Given the description of an element on the screen output the (x, y) to click on. 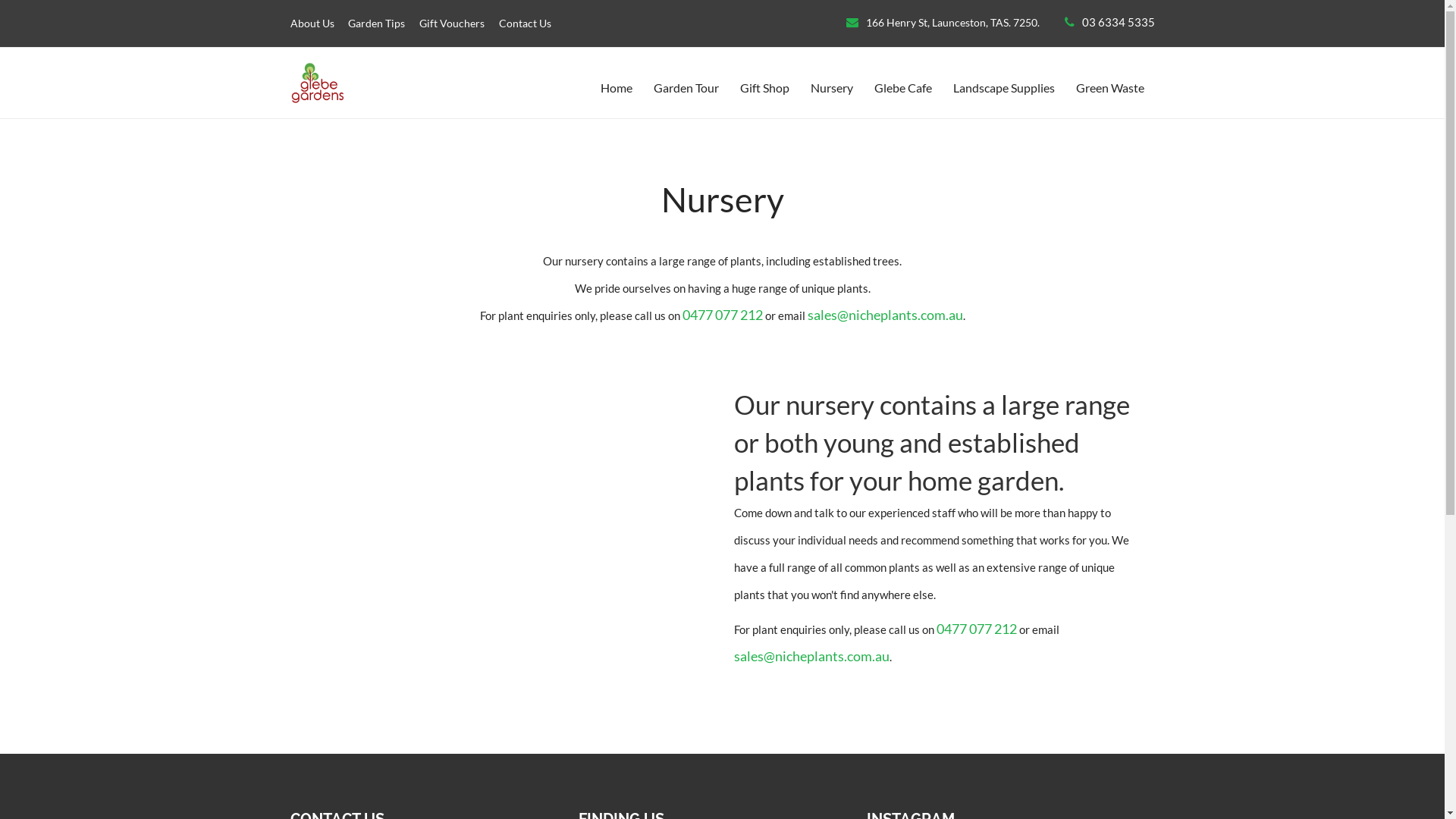
sales@nicheplants.com.au Element type: text (811, 655)
Green Waste Element type: text (1119, 87)
Landscape Supplies Element type: text (1013, 87)
0477 077 212 Element type: text (975, 628)
Gift Shop Element type: text (775, 87)
Nursery Element type: text (841, 87)
0477 077 212 Element type: text (722, 314)
About Us Element type: text (311, 22)
sales@nicheplants.com.au Element type: text (884, 314)
Glebe Cafe Element type: text (912, 87)
Home Element type: text (626, 87)
Contact Us Element type: text (524, 22)
Garden Tour Element type: text (696, 87)
Gift Vouchers Element type: text (451, 22)
Garden Tips Element type: text (376, 22)
03 6334 5335 Element type: text (1117, 21)
